Given the description of an element on the screen output the (x, y) to click on. 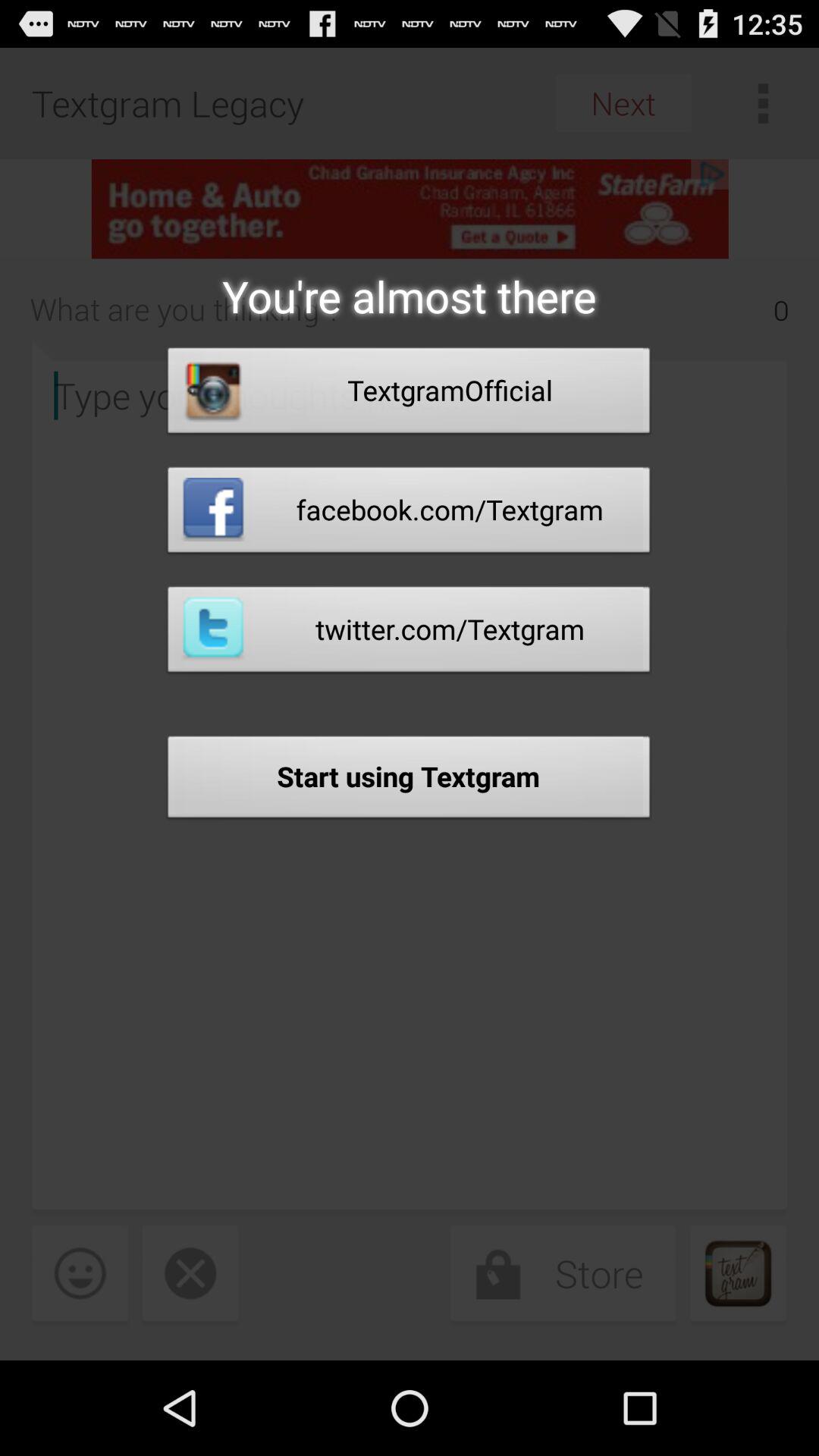
press textgramofficial icon (409, 394)
